Given the description of an element on the screen output the (x, y) to click on. 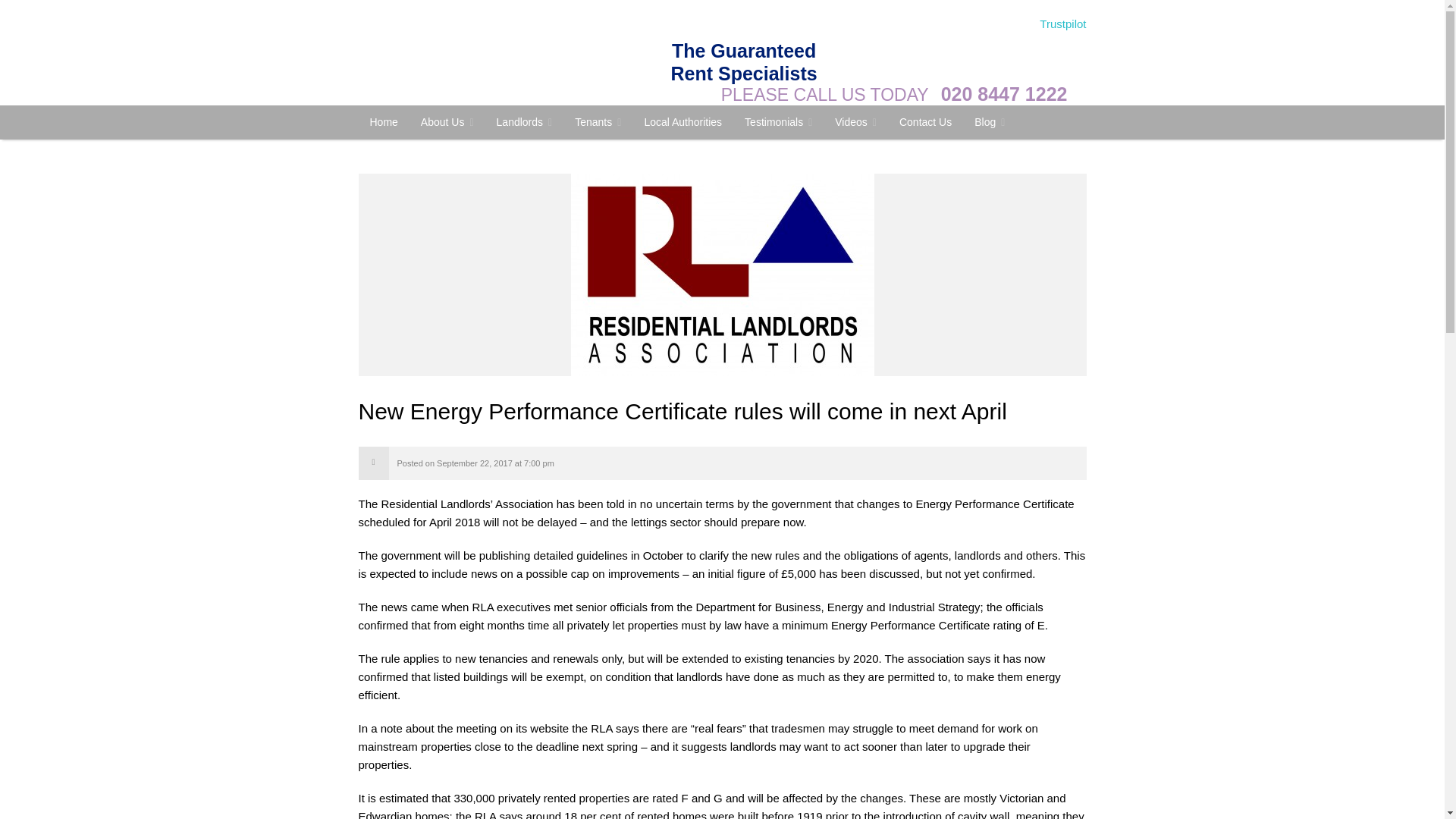
Trustpilot (1062, 23)
Central Housing Group (383, 121)
Tenants (597, 122)
About Us (446, 122)
020 8447 1222 (1003, 93)
About Central Housing Group (446, 122)
Testimonials (778, 122)
Landlords (524, 122)
Local Authorities (682, 121)
Landlords (524, 122)
